Given the description of an element on the screen output the (x, y) to click on. 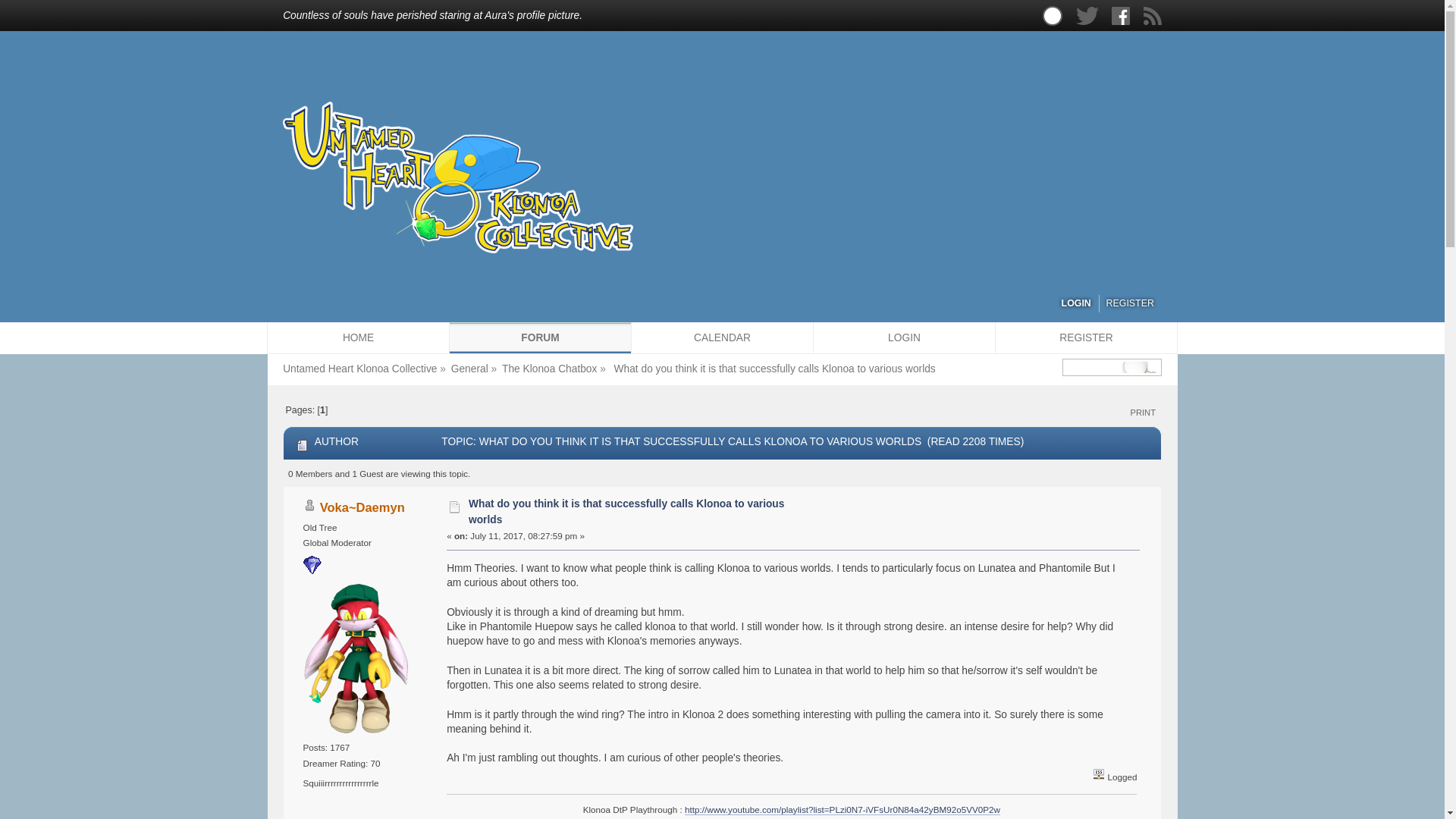
Forum (539, 337)
REGISTER (1130, 303)
The Klonoa Chatbox (549, 368)
LOGIN (903, 337)
General (469, 368)
LOGIN (1075, 303)
HOME (357, 337)
Register (1085, 337)
Calendar (721, 337)
Home (357, 337)
CALENDAR (721, 337)
Switch to dark theme. (1052, 15)
PRINT (1142, 413)
